Given the description of an element on the screen output the (x, y) to click on. 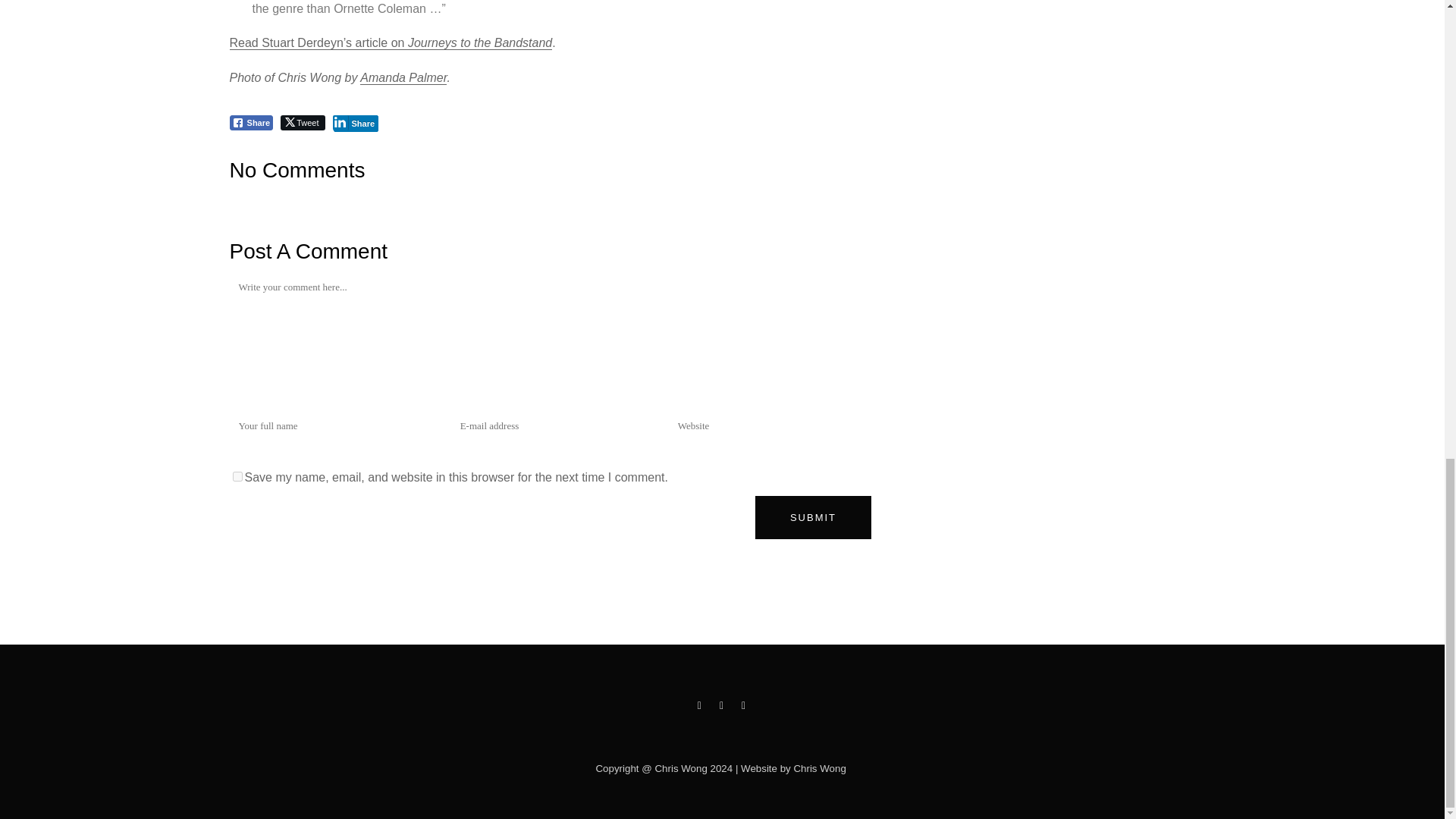
Submit (812, 517)
Share (250, 122)
Tweet (302, 122)
yes (236, 476)
Submit (812, 517)
Share (354, 122)
Amanda Palmer (402, 78)
